Given the description of an element on the screen output the (x, y) to click on. 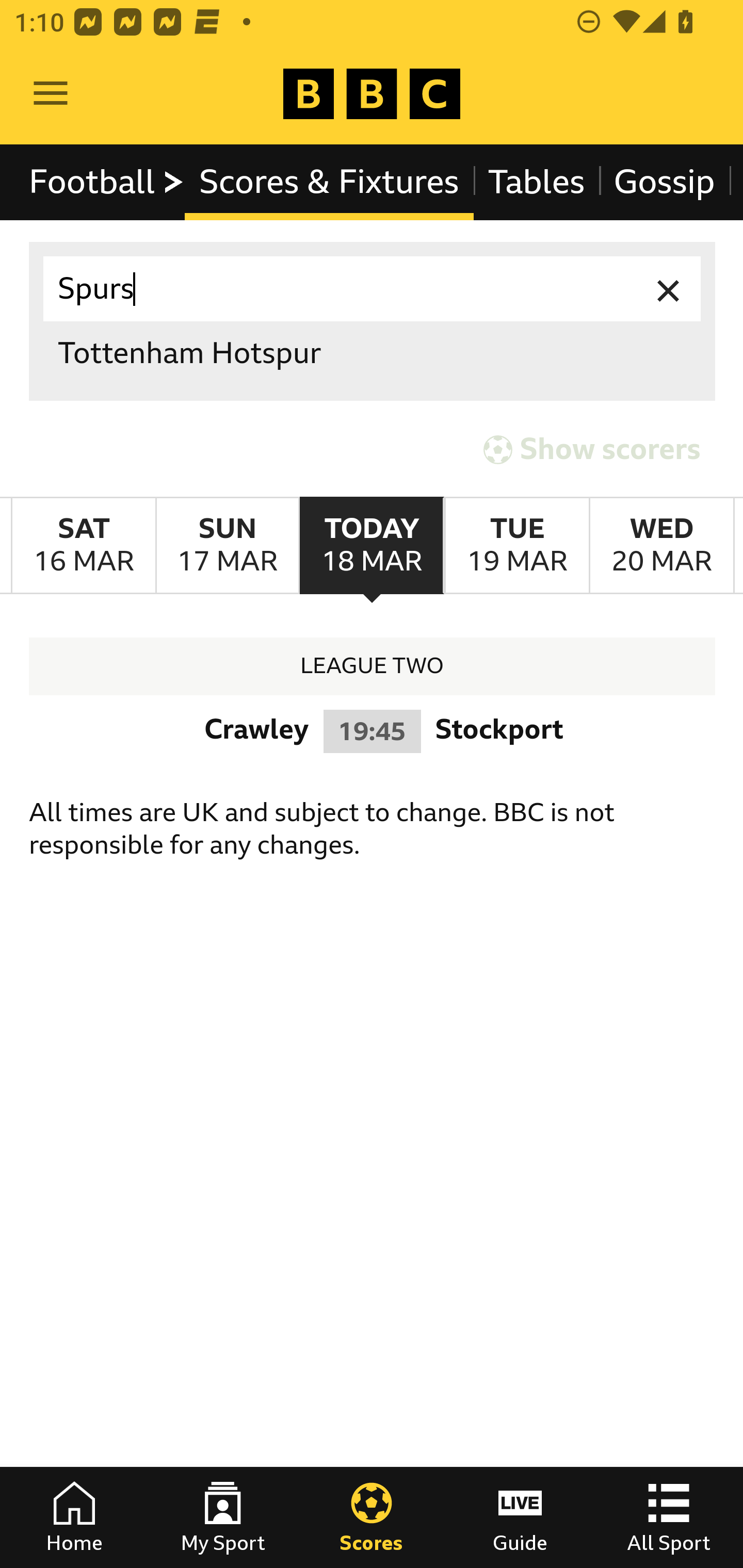
Open Menu (50, 93)
Football  (106, 181)
Scores & Fixtures (329, 181)
Tables (536, 181)
Gossip (664, 181)
Spurs (372, 289)
Clear input (669, 289)
Tottenham Hotspur (372, 353)
Show scorers (591, 449)
SaturdayMarch 16th Saturday March 16th (83, 546)
SundayMarch 17th Sunday March 17th (227, 546)
TuesdayMarch 19th Tuesday March 19th (516, 546)
WednesdayMarch 20th Wednesday March 20th (661, 546)
Home (74, 1517)
My Sport (222, 1517)
Guide (519, 1517)
All Sport (668, 1517)
